Given the description of an element on the screen output the (x, y) to click on. 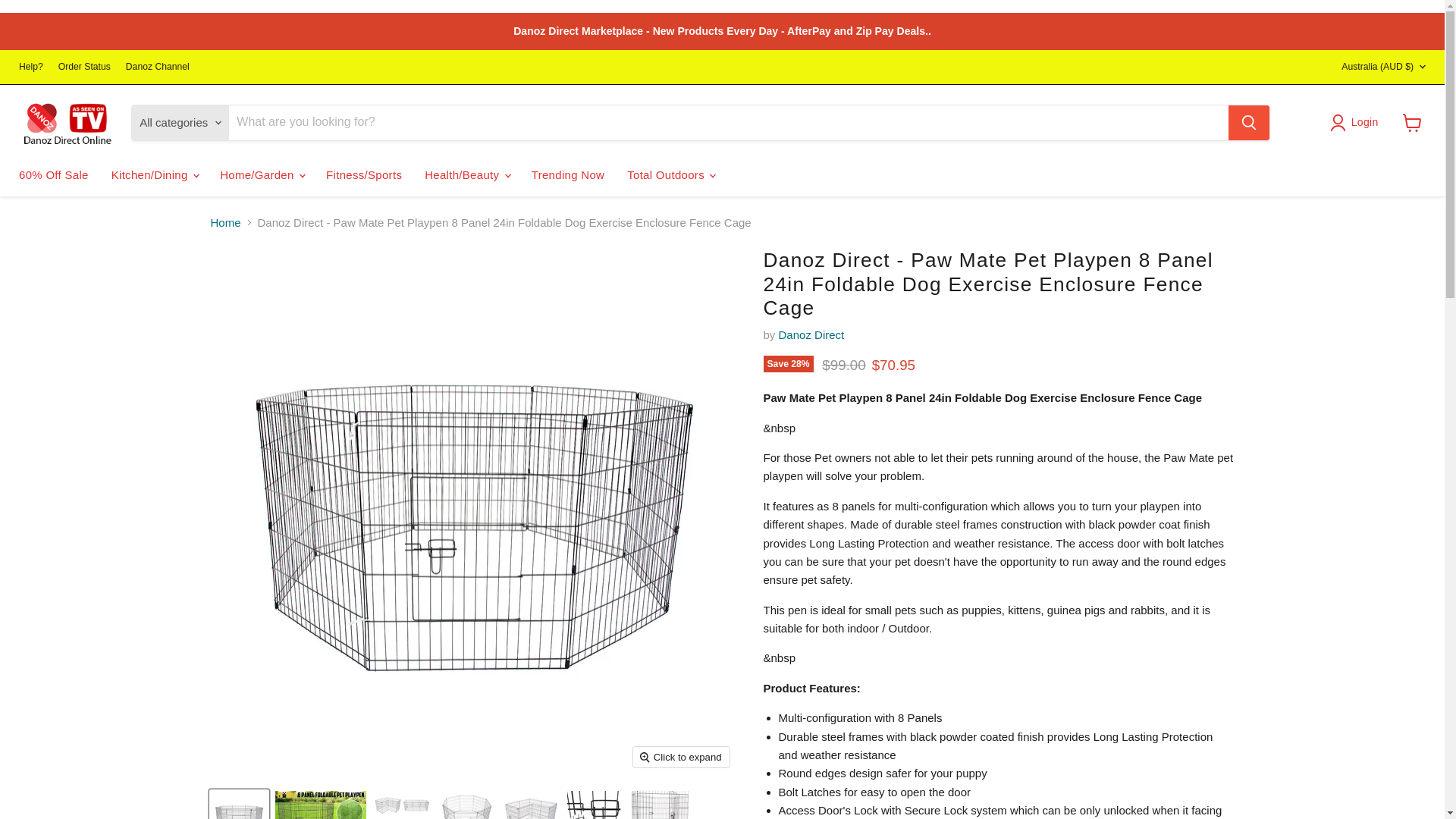
Danoz Channel (157, 66)
Help? (30, 66)
Order Status (84, 66)
Danoz Direct (811, 334)
